Given the description of an element on the screen output the (x, y) to click on. 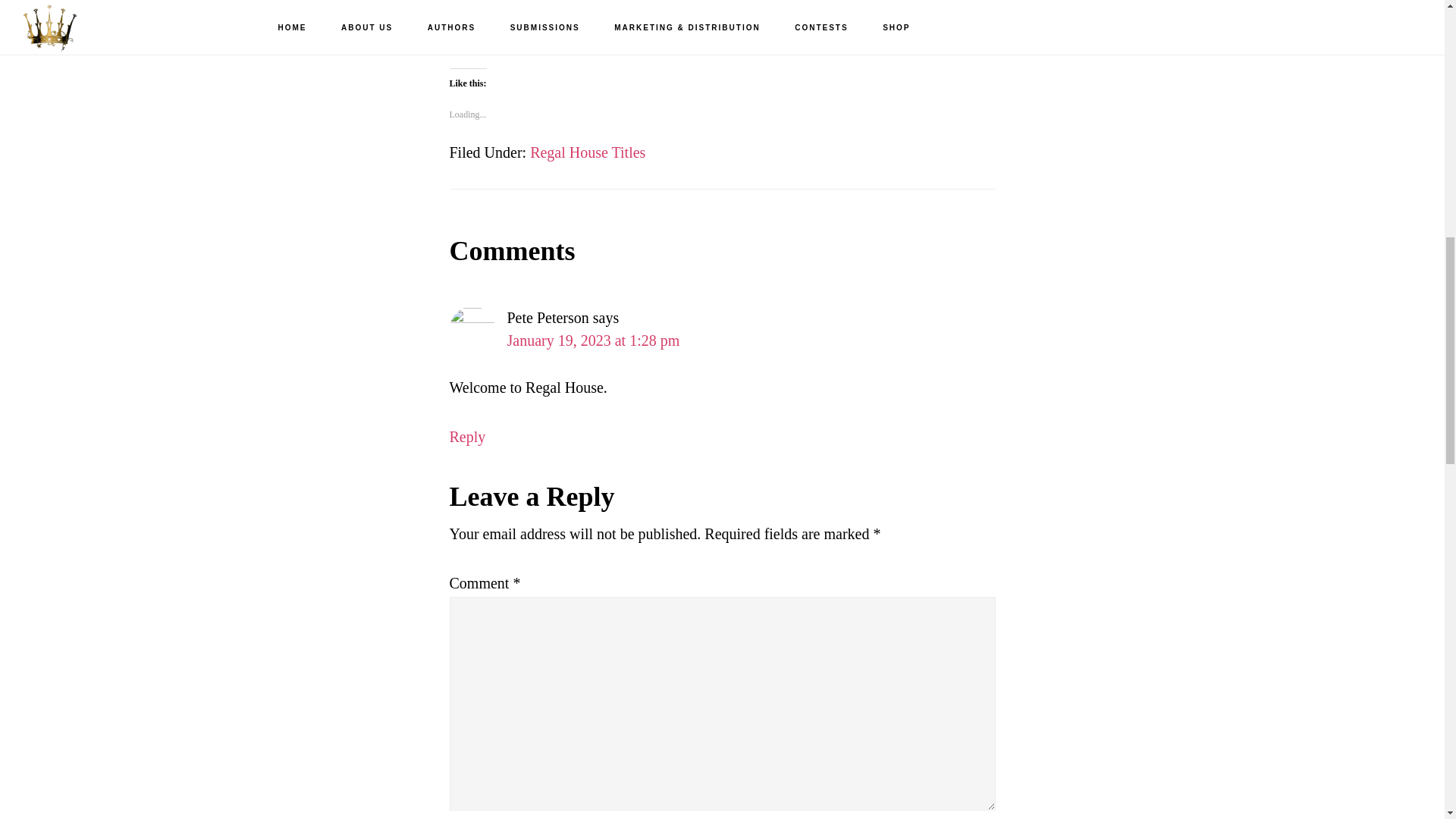
Click to email a link to a friend (552, 27)
Click to share on Facebook (491, 27)
Click to share on Twitter (460, 27)
Click to share on LinkedIn (521, 27)
